Given the description of an element on the screen output the (x, y) to click on. 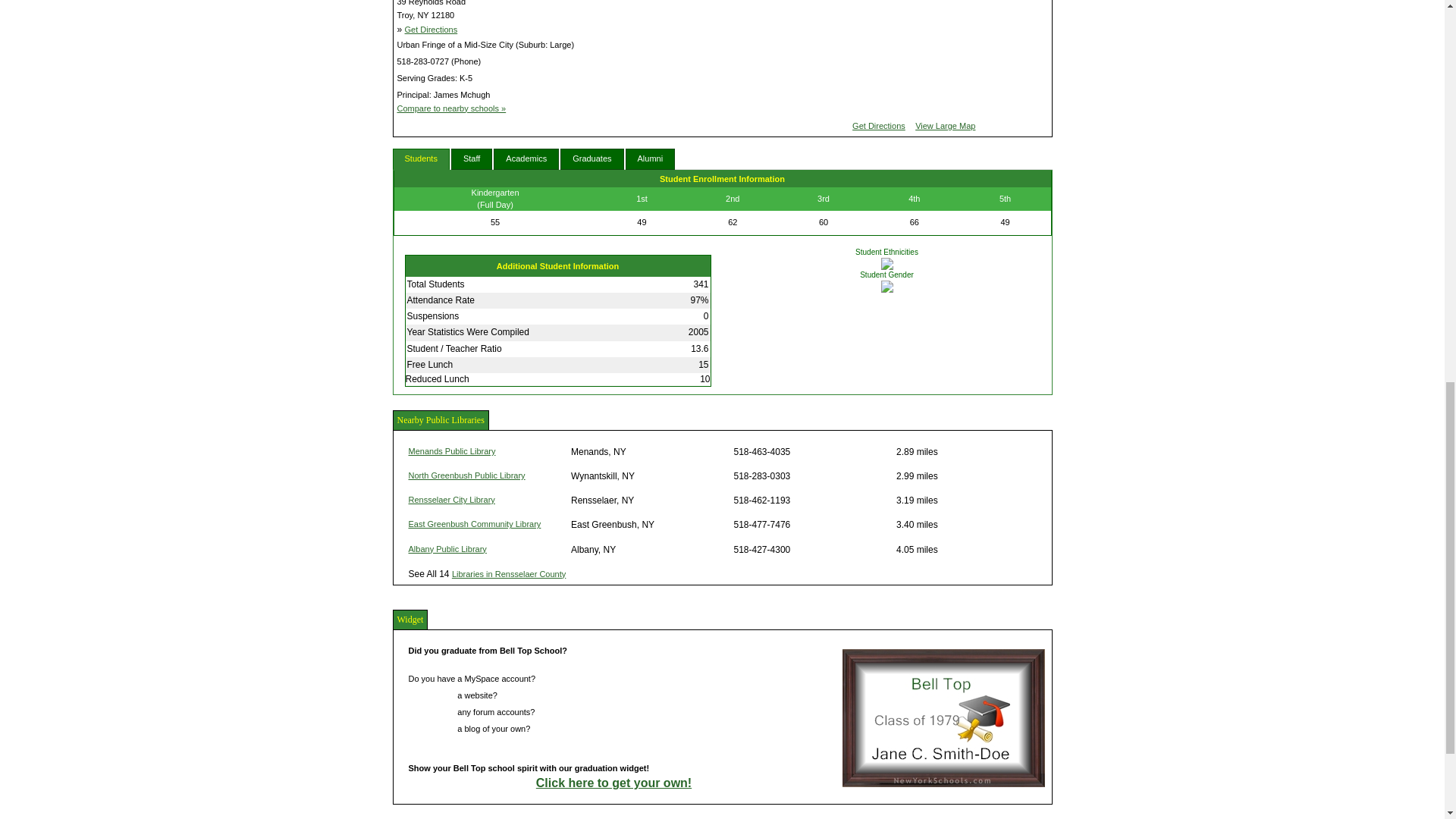
Get Directions (431, 29)
View Large Map (945, 125)
Get Directions (878, 125)
Staff (471, 158)
Students (421, 158)
